Given the description of an element on the screen output the (x, y) to click on. 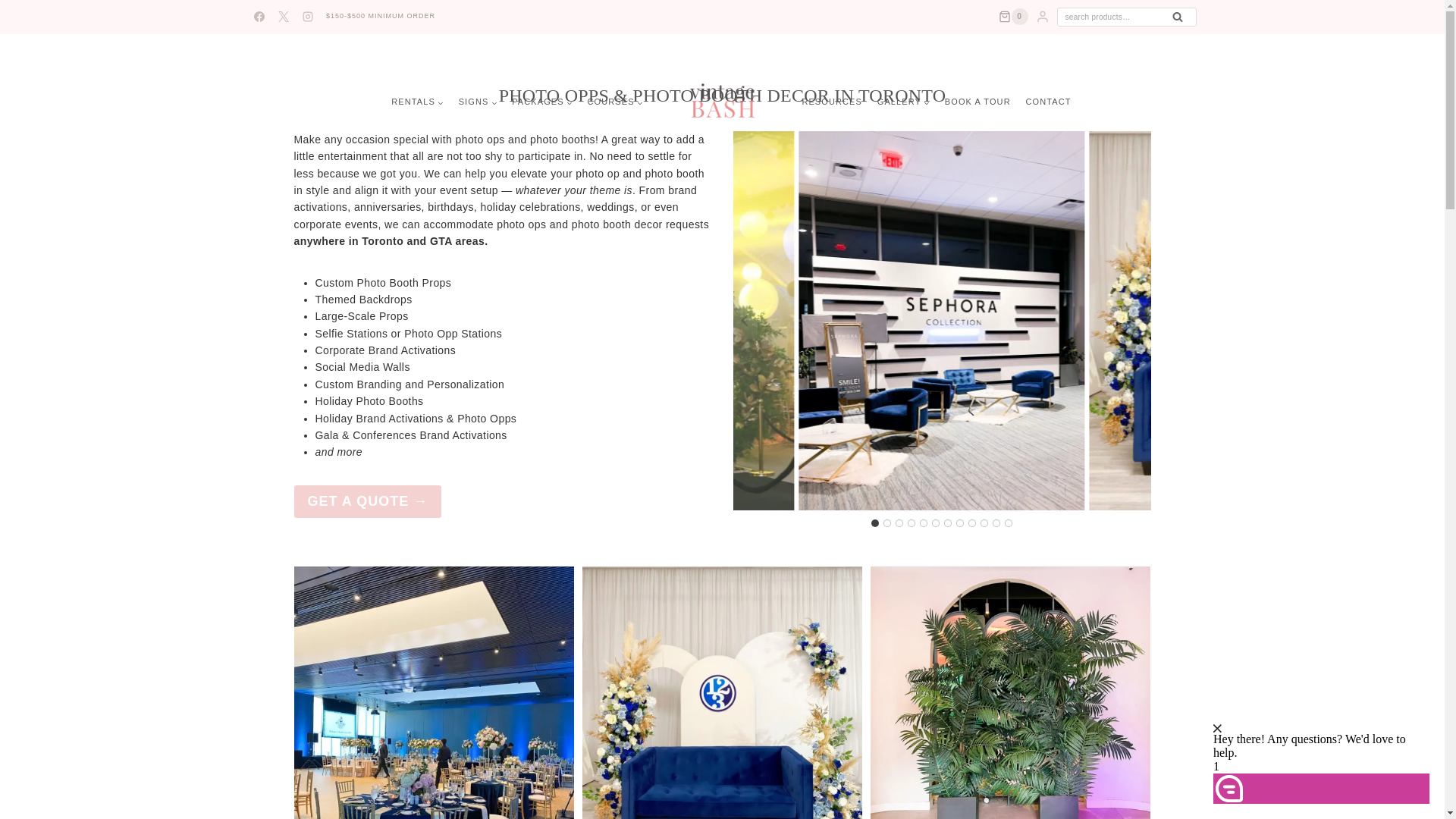
RENTALS (416, 102)
Front Chat (1326, 745)
0 (1012, 16)
Search (1177, 16)
